Given the description of an element on the screen output the (x, y) to click on. 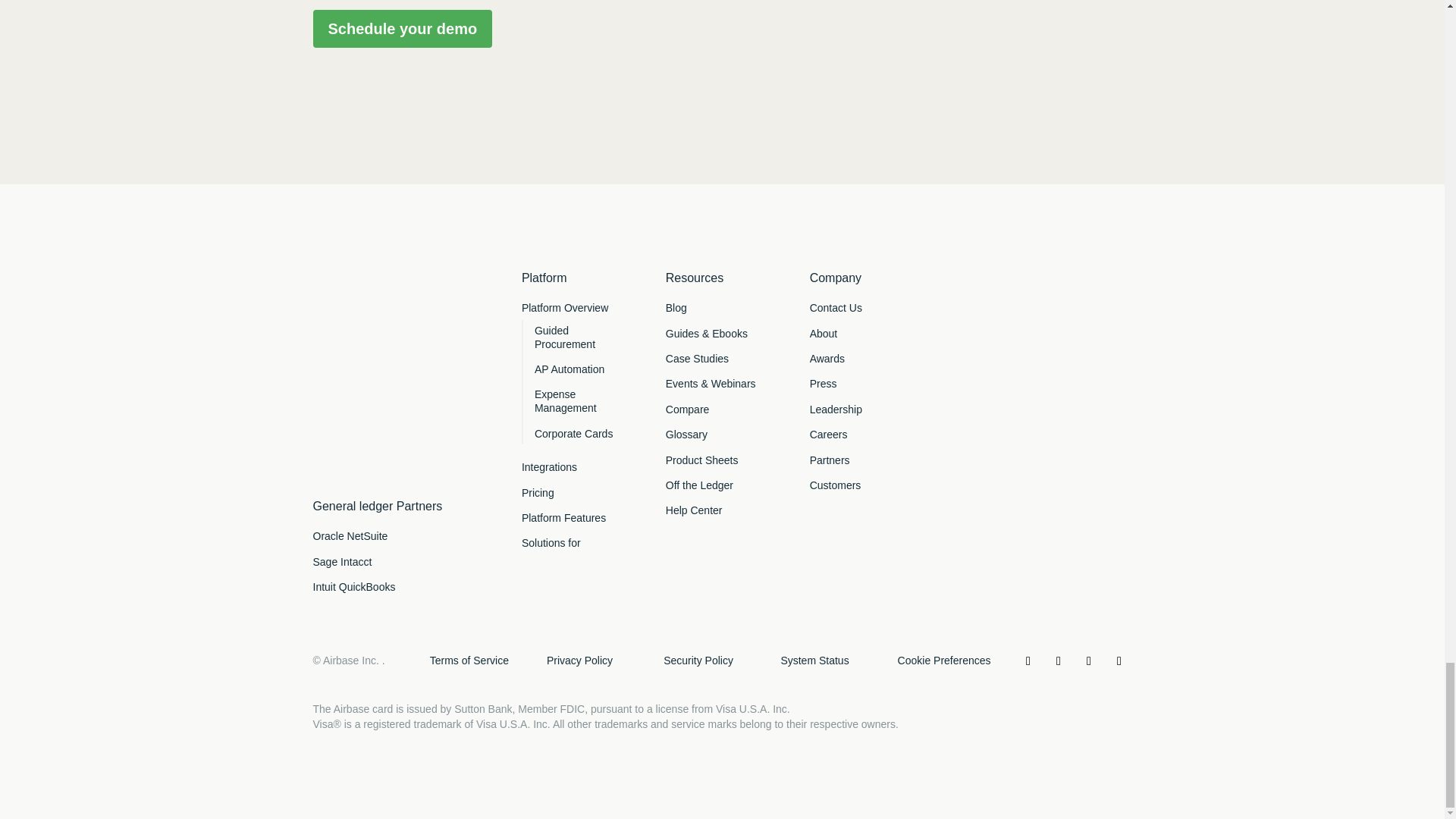
Follow on Instagram (1118, 661)
Follow on Facebook (1088, 661)
apple-button-app (395, 425)
Follow on X (1058, 661)
google-app-button (369, 464)
Follow on LinkedIn (1028, 661)
airbase-logo-rgb-02 (394, 327)
